Given the description of an element on the screen output the (x, y) to click on. 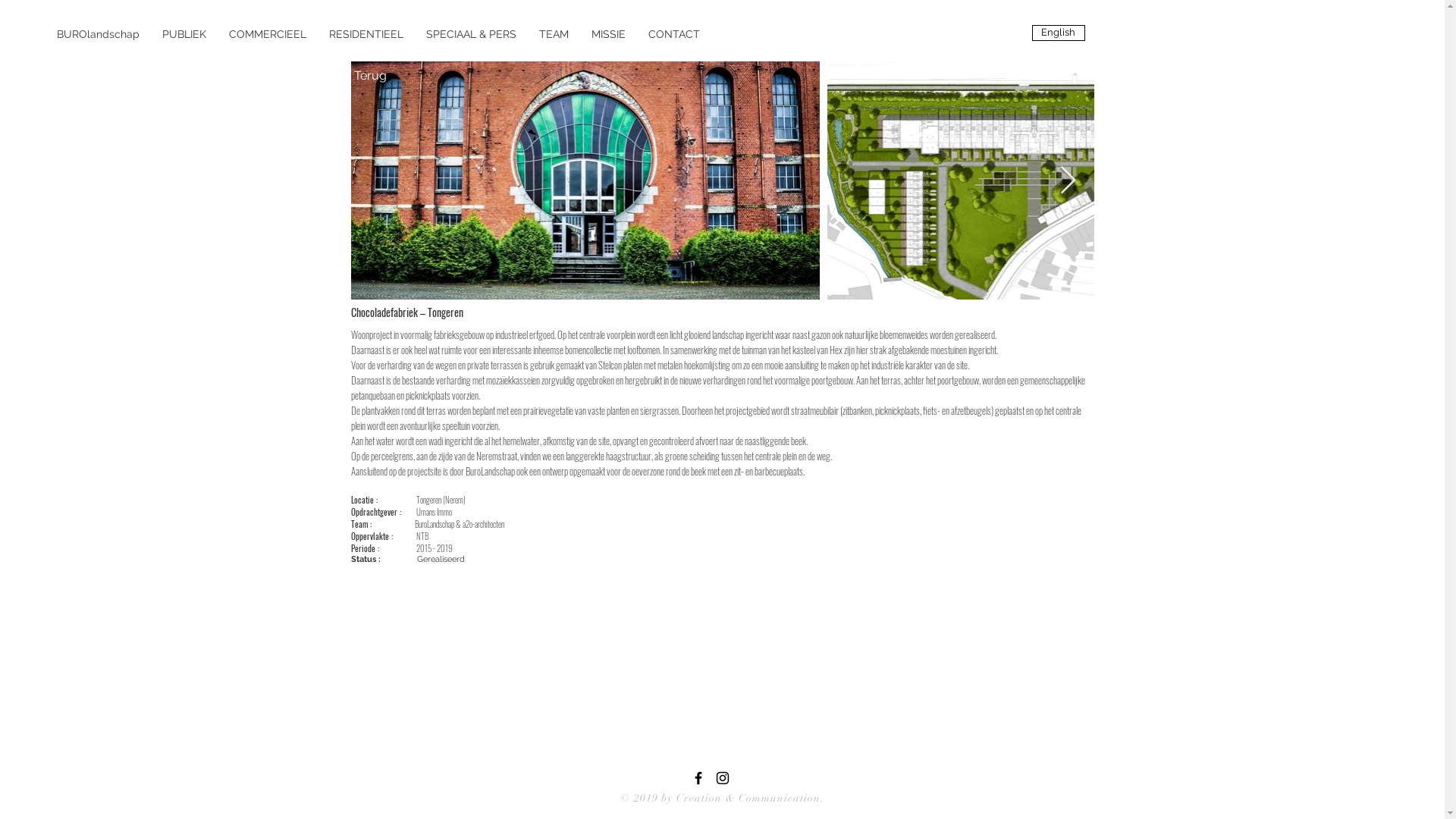
COMMERCIEEL Element type: text (267, 34)
English Element type: text (1057, 32)
RESIDENTIEEL Element type: text (365, 34)
MISSIE Element type: text (608, 34)
BUROlandschap Element type: text (97, 34)
SPECIAAL & PERS Element type: text (470, 34)
TEAM Element type: text (553, 34)
. Element type: text (822, 797)
Pin to Pinterest Element type: hover (504, 311)
PUBLIEK Element type: text (183, 34)
Terug Element type: text (369, 75)
CONTACT Element type: text (674, 34)
